Given the description of an element on the screen output the (x, y) to click on. 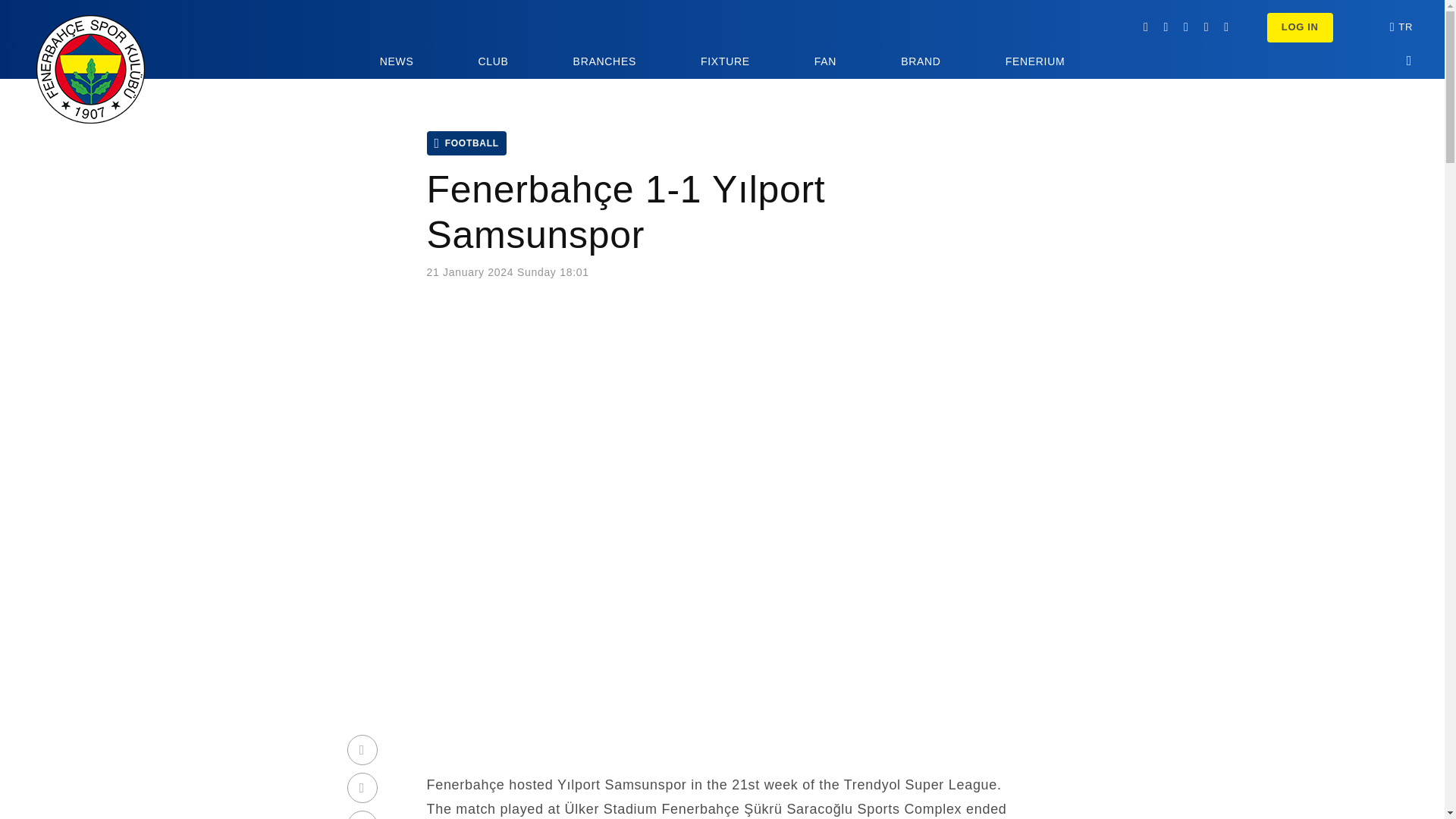
BRANCHES (604, 66)
CLUB (492, 66)
TR (1404, 27)
NEWS (396, 66)
